Given the description of an element on the screen output the (x, y) to click on. 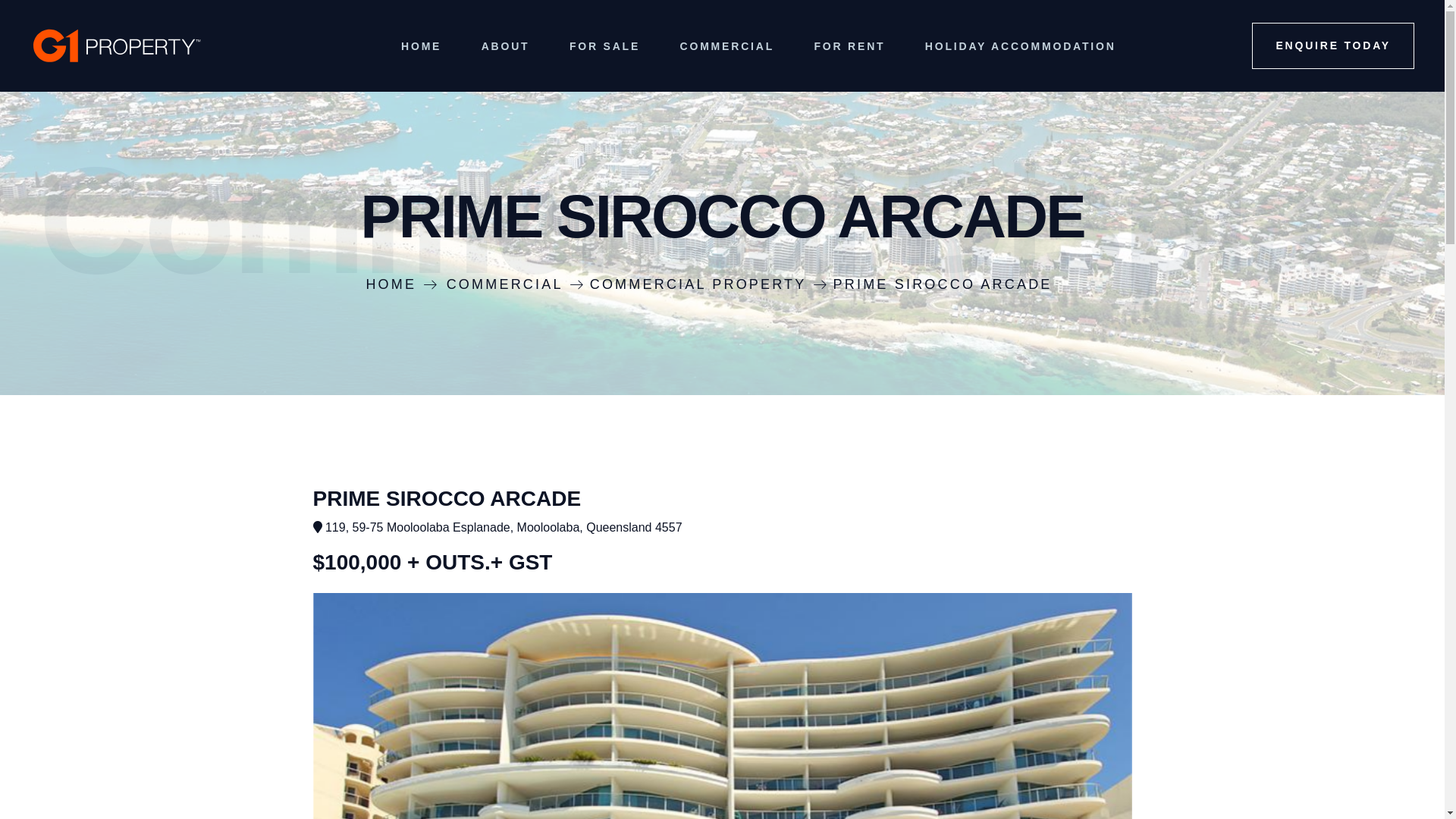
ABOUT Element type: text (505, 46)
FOR SALE Element type: text (604, 46)
ENQUIRE TODAY Element type: text (1333, 45)
HOLIDAY ACCOMMODATION Element type: text (1020, 46)
HOME Element type: text (402, 284)
COMMERCIAL PROPERTY Element type: text (709, 284)
COMMERCIAL Element type: text (727, 46)
HOME Element type: text (420, 46)
COMMERCIAL Element type: text (516, 284)
FOR RENT Element type: text (849, 46)
PRIME SIROCCO ARCADE Element type: text (954, 284)
